Given the description of an element on the screen output the (x, y) to click on. 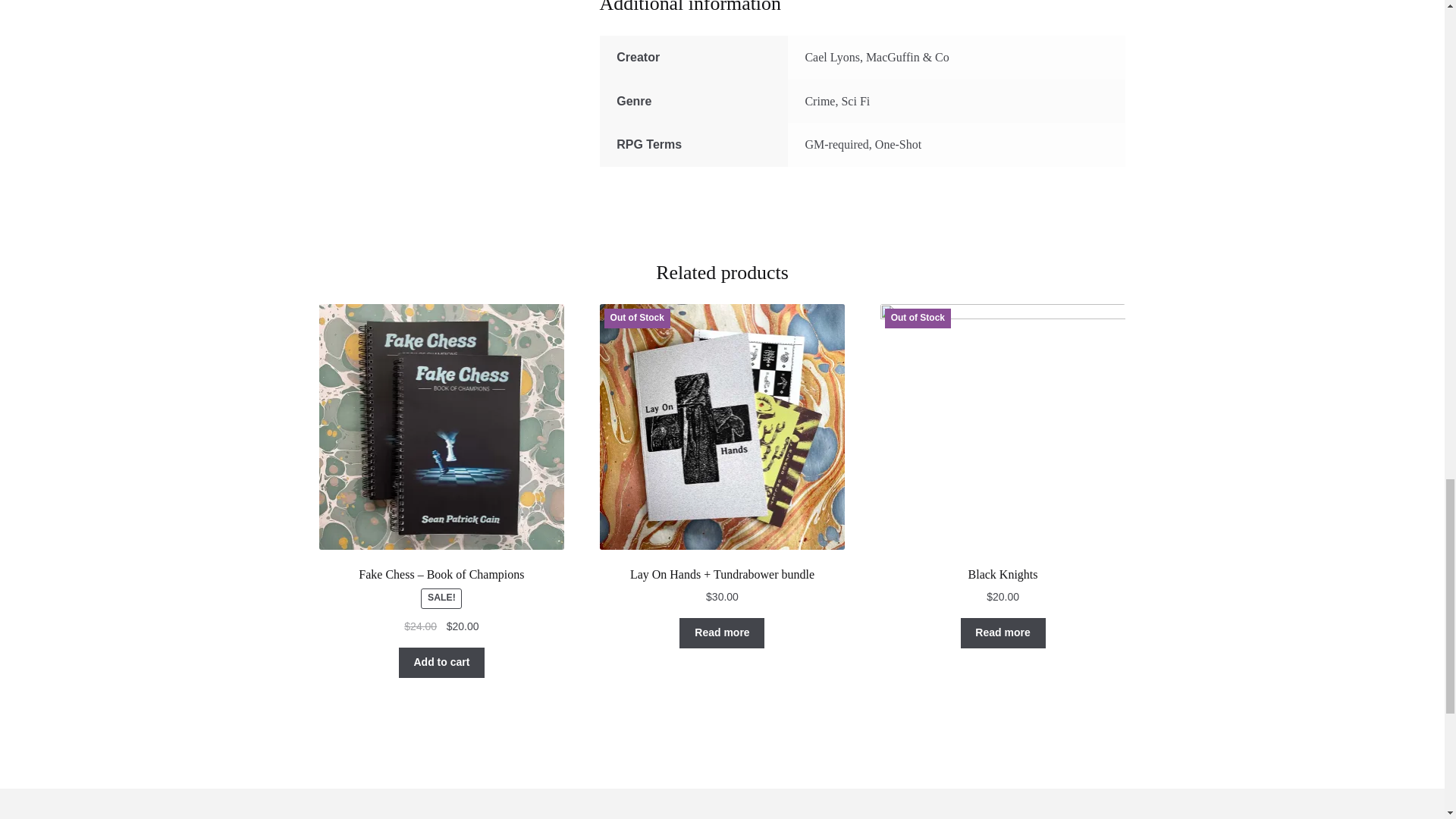
Add to cart (441, 662)
Read more (1002, 633)
Read more (721, 633)
